Given the description of an element on the screen output the (x, y) to click on. 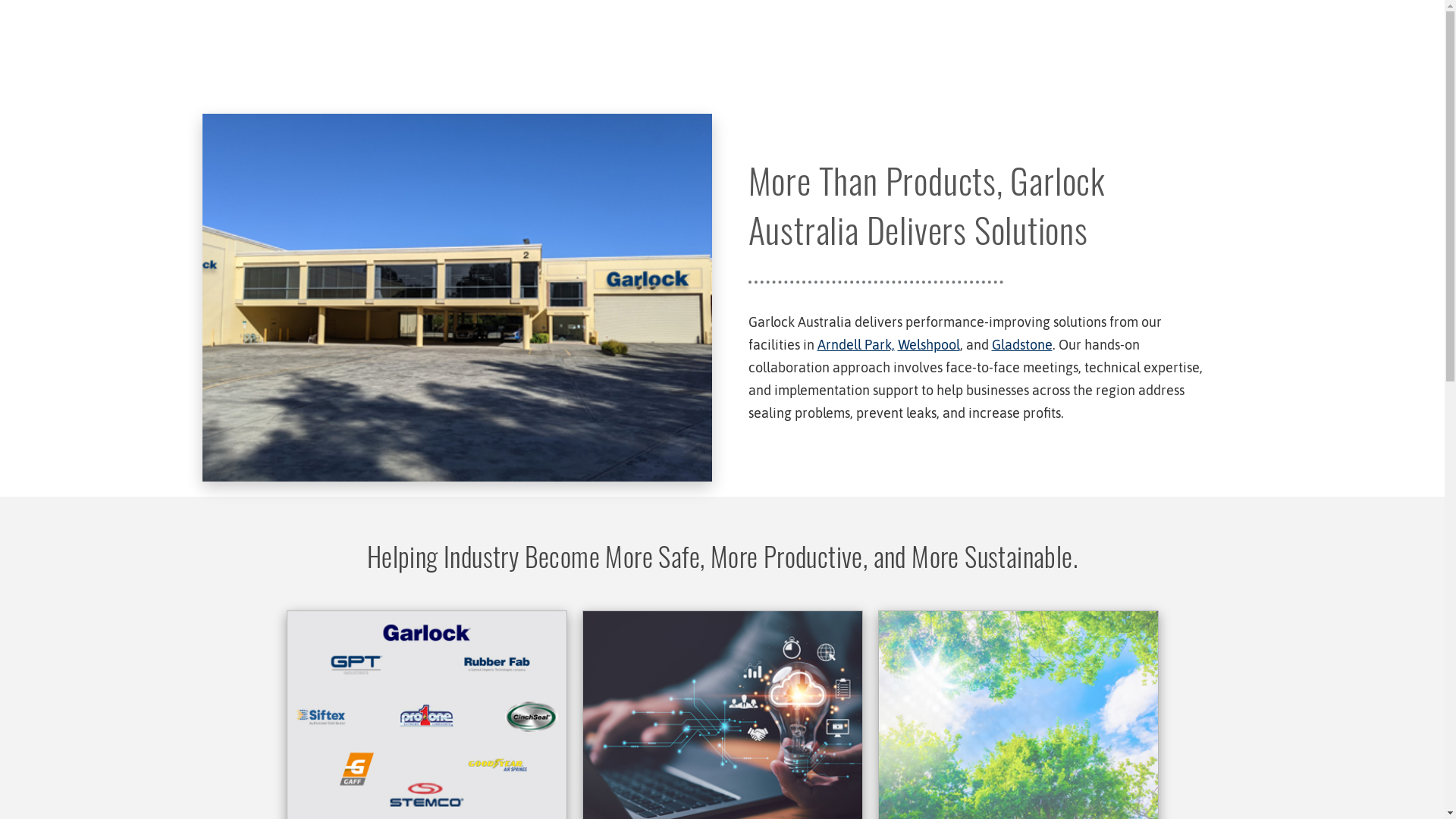
Arndell Park, Element type: text (855, 344)
Gladstone Element type: text (1021, 344)
Welshpool Element type: text (928, 344)
